Given the description of an element on the screen output the (x, y) to click on. 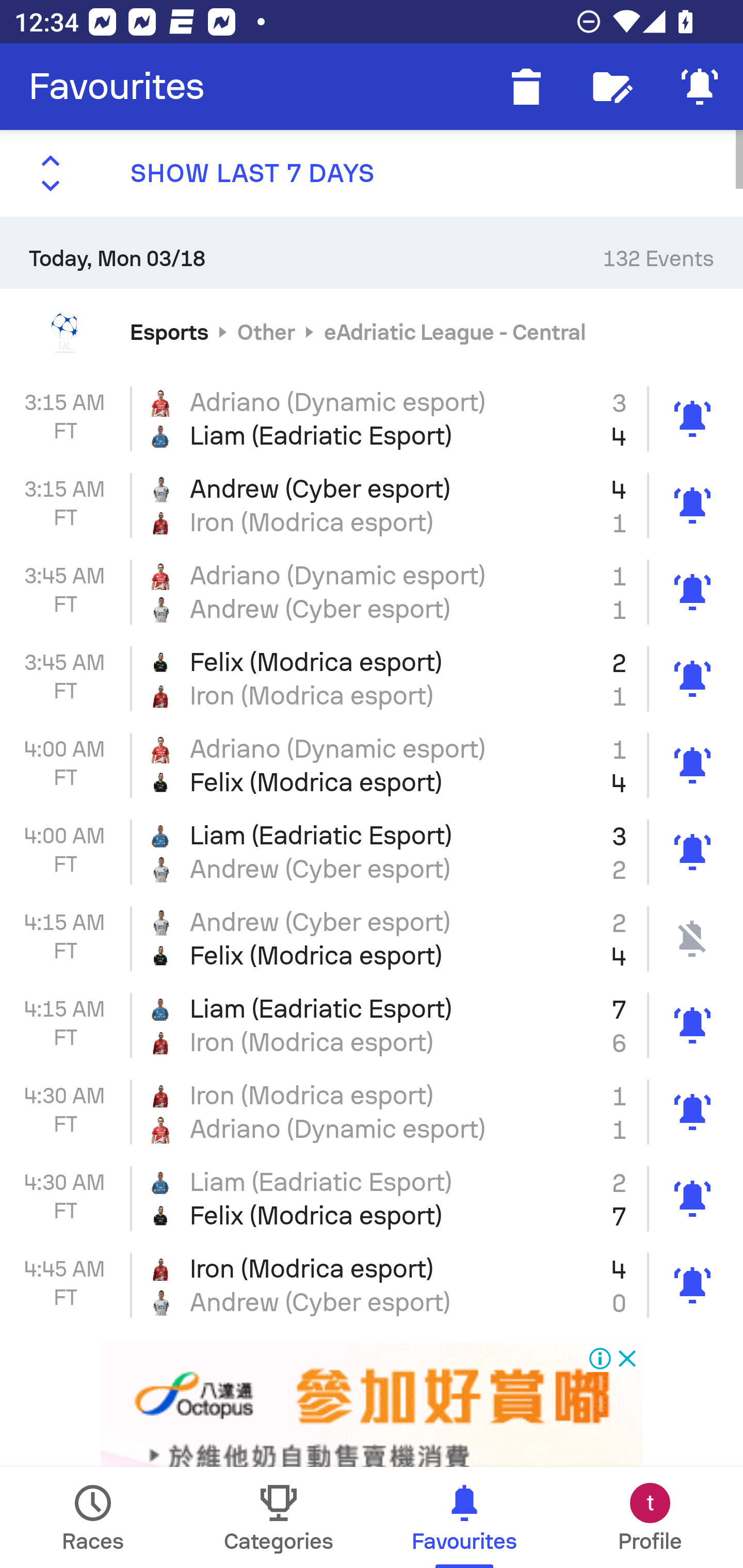
Favourites (116, 86)
Delete finished (525, 86)
Follow editor (612, 86)
Mute Notifications (699, 86)
SHOW LAST 7 DAYS (371, 173)
Today, Mon 03/18 132 Events (371, 252)
Esports Other eAdriatic League - Central (371, 331)
Advertisement (371, 1405)
Races (92, 1517)
Categories (278, 1517)
Profile (650, 1517)
